Given the description of an element on the screen output the (x, y) to click on. 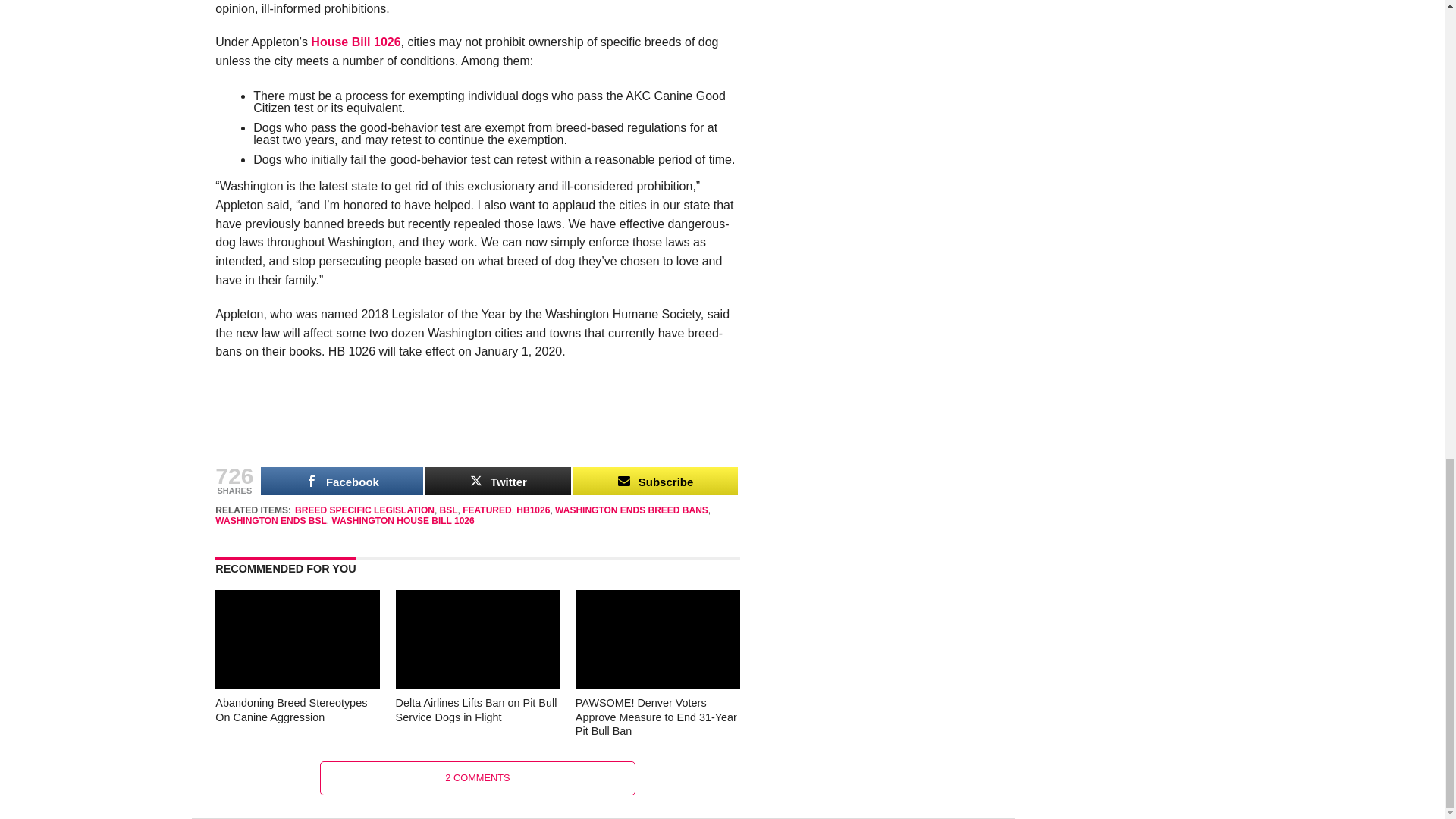
Delta Airlines Lifts Ban on Pit Bull Service Dogs in Flight (478, 684)
New Washington Law Will End Breed-Specific Bans 4 (477, 424)
Abandoning Breed Stereotypes On Canine Aggression (297, 684)
Abandoning Breed Stereotypes On Canine Aggression 5 (297, 638)
